Given the description of an element on the screen output the (x, y) to click on. 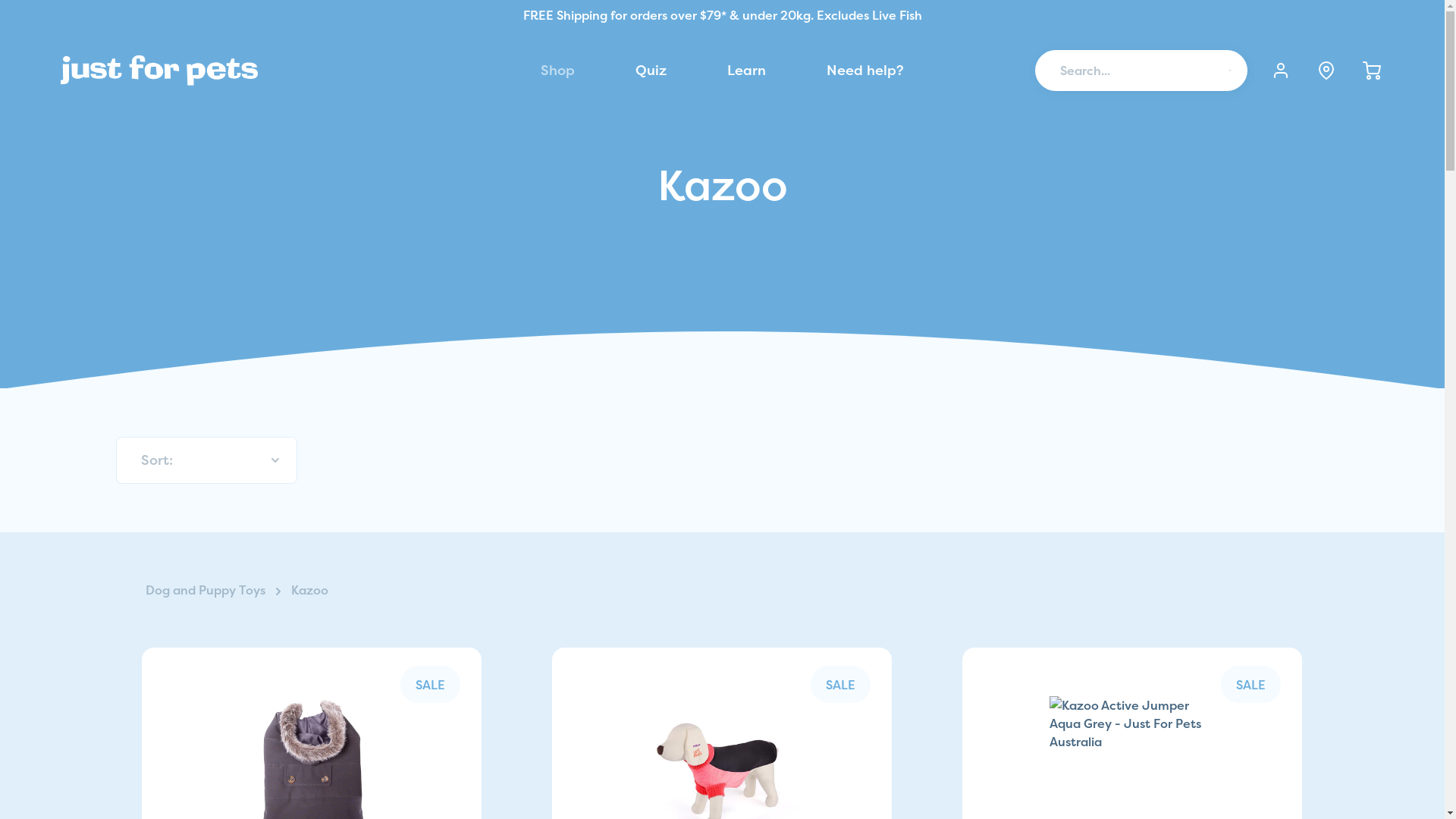
Skip to content. Element type: text (0, 0)
Quiz Element type: text (650, 70)
Home Element type: hover (158, 70)
Learn Element type: text (746, 70)
Shop Element type: text (557, 70)
Kazoo Element type: text (309, 589)
Need help? Element type: text (865, 70)
Dog and Puppy Toys Element type: text (206, 589)
Your cart Element type: hover (1371, 70)
